Given the description of an element on the screen output the (x, y) to click on. 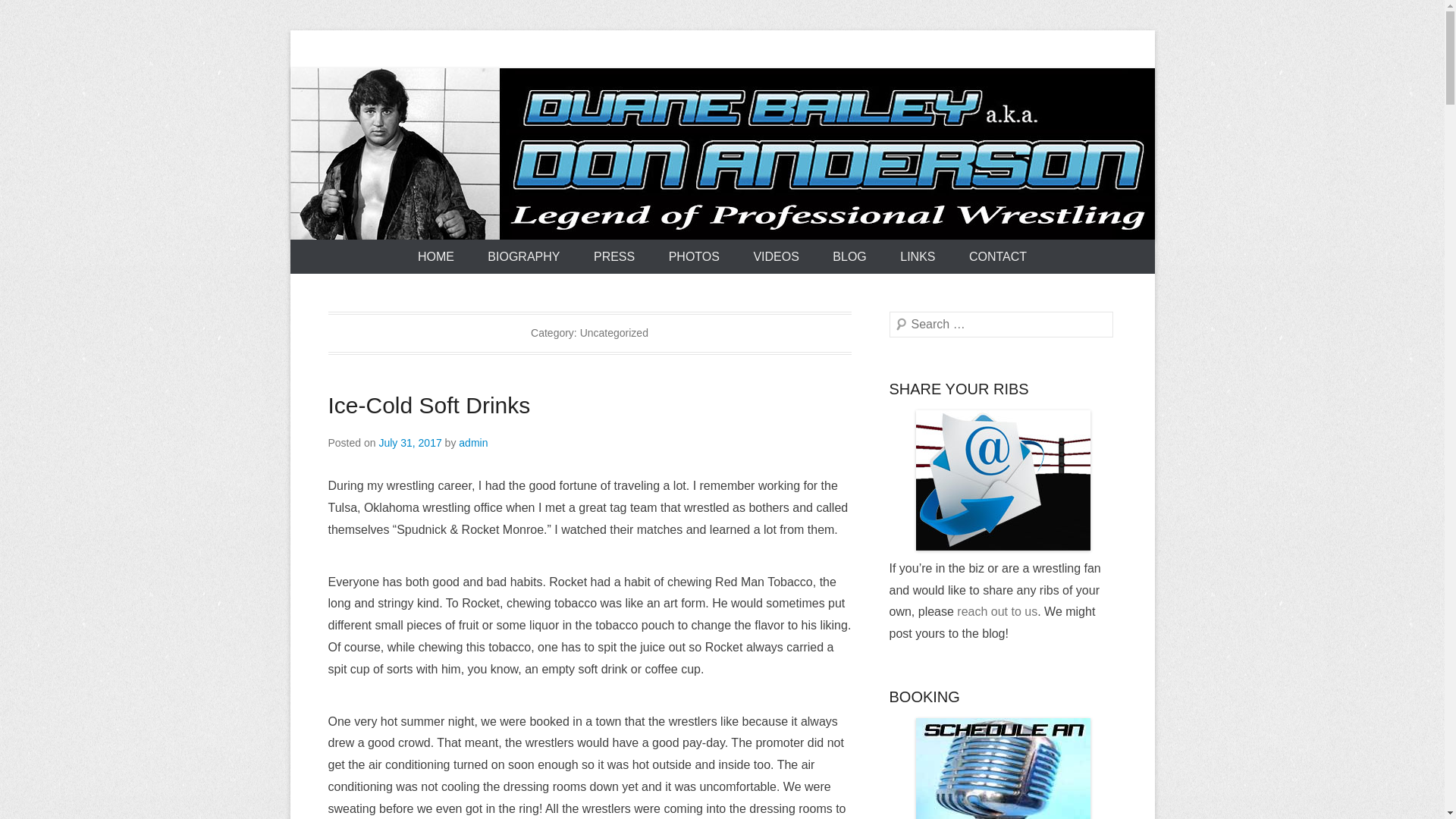
View all posts by admin (472, 442)
BLOG (848, 256)
PHOTOS (694, 256)
BIOGRAPHY (523, 256)
VIDEOS (775, 256)
July 31, 2017 (409, 442)
admin (472, 442)
CONTACT (997, 256)
